Given the description of an element on the screen output the (x, y) to click on. 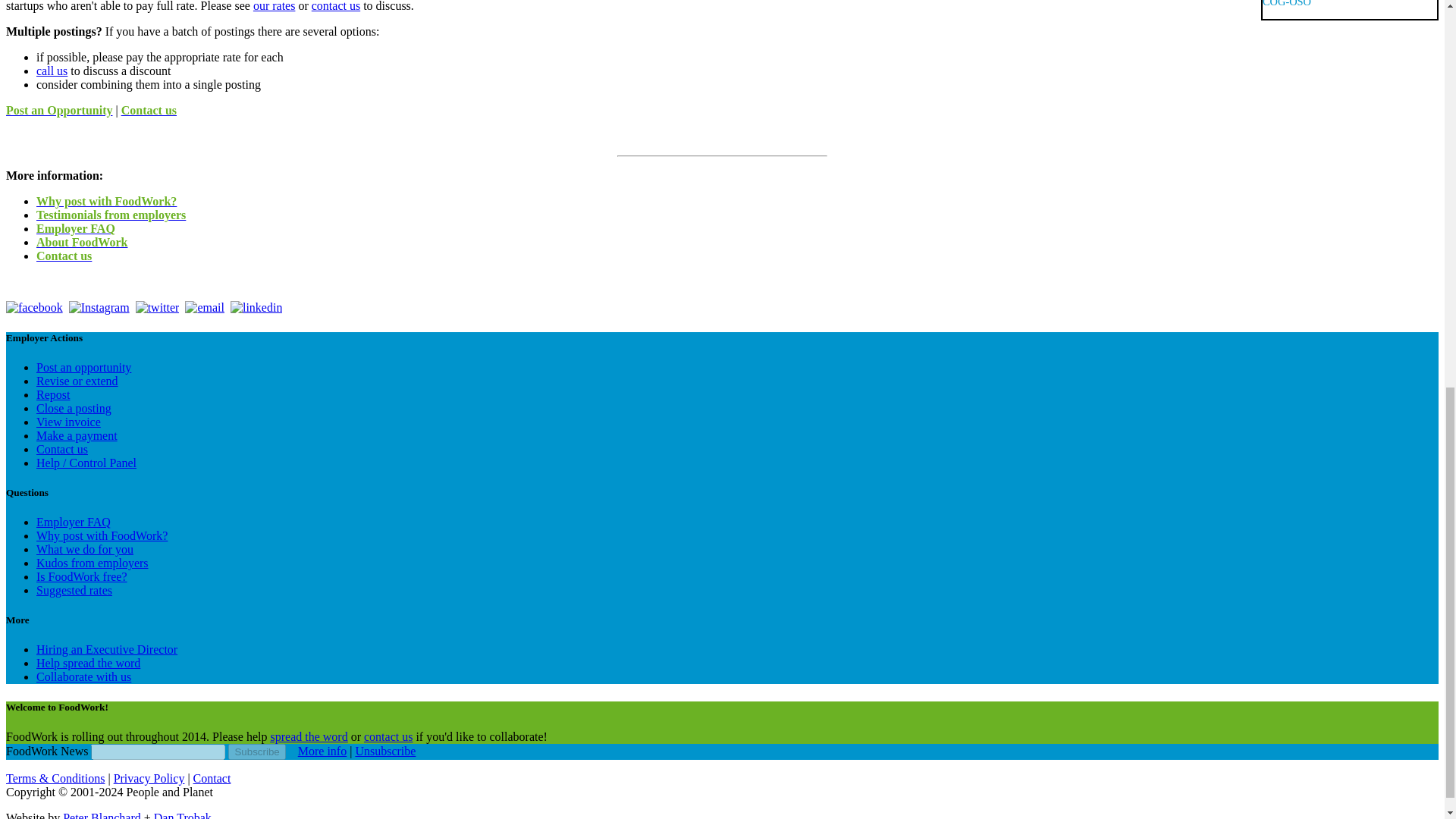
Follow us on Instagram (98, 307)
Subscribe (256, 751)
Subscribe to FoodWork (204, 307)
Follow us on LinkedIn (256, 307)
Follow FoodWork on Facebook (33, 307)
E-mail address (157, 751)
Follow FoodWork on Twitter (157, 307)
Frequently Asked Questions (73, 521)
